Given the description of an element on the screen output the (x, y) to click on. 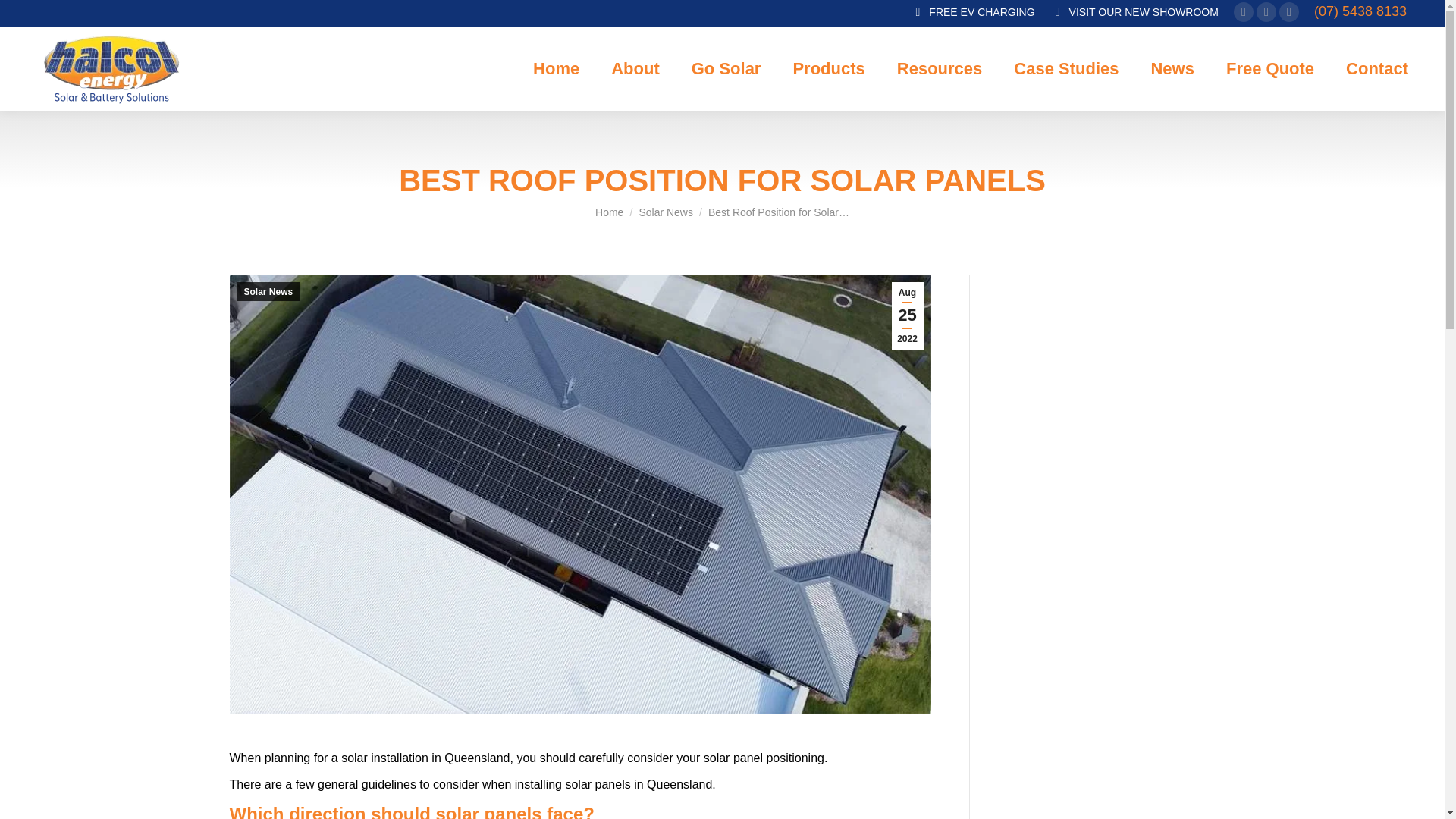
VISIT OUR NEW SHOWROOM (1133, 11)
Instagram page opens in new window (1243, 11)
YouTube page opens in new window (1288, 11)
Instagram page opens in new window (1243, 11)
YouTube page opens in new window (1288, 11)
Facebook page opens in new window (1266, 11)
About (635, 68)
FREE EV CHARGING (971, 11)
Home (609, 212)
